Given the description of an element on the screen output the (x, y) to click on. 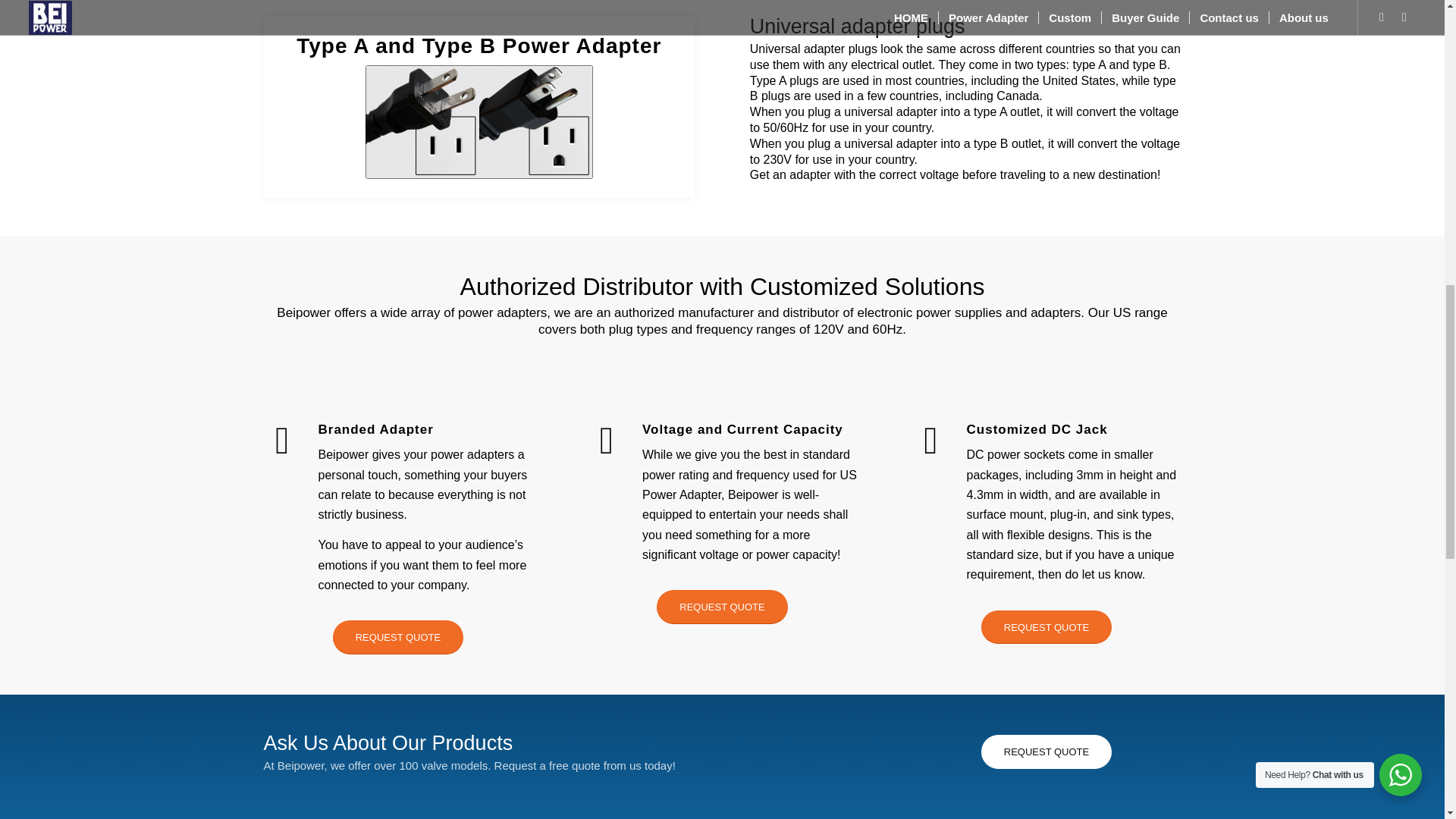
REQUEST QUOTE (398, 636)
REQUEST QUOTE (1046, 627)
REQUEST QUOTE (1046, 751)
electricity-tiles-type-A-horz (478, 122)
REQUEST QUOTE (721, 606)
